Given the description of an element on the screen output the (x, y) to click on. 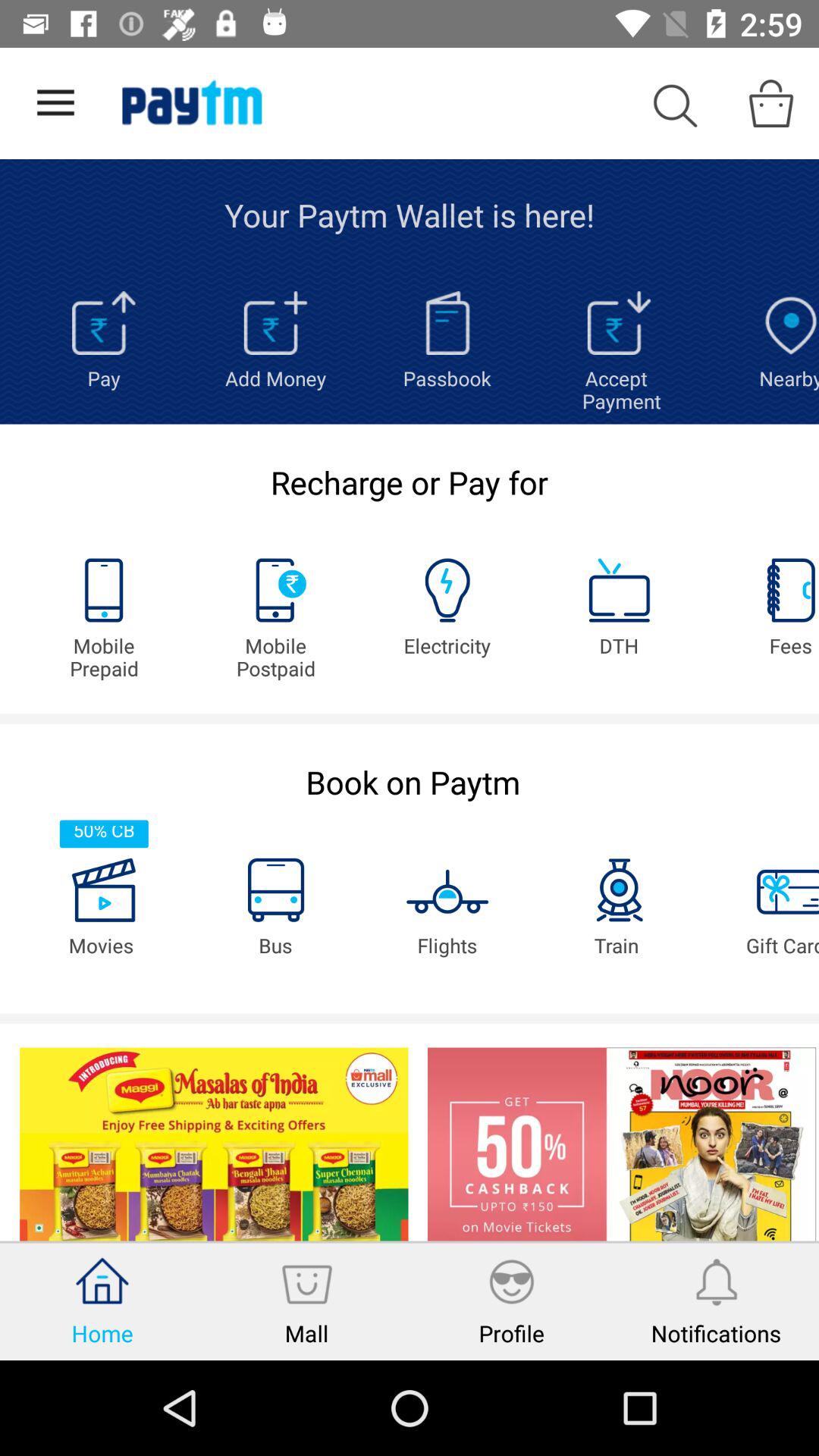
click your paytm wallet icon (409, 214)
